Given the description of an element on the screen output the (x, y) to click on. 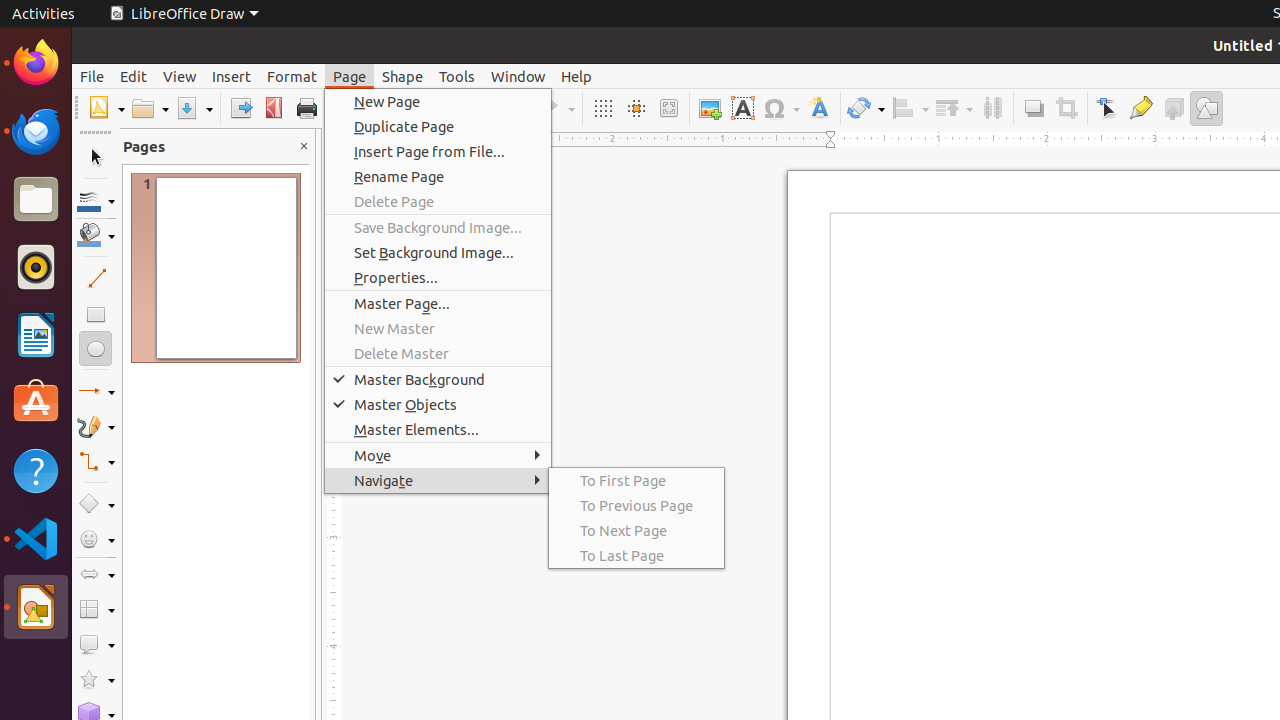
Select Element type: push-button (95, 157)
Helplines While Moving Element type: toggle-button (635, 108)
Files Element type: push-button (36, 199)
To Previous Page Element type: menu-item (636, 505)
